Given the description of an element on the screen output the (x, y) to click on. 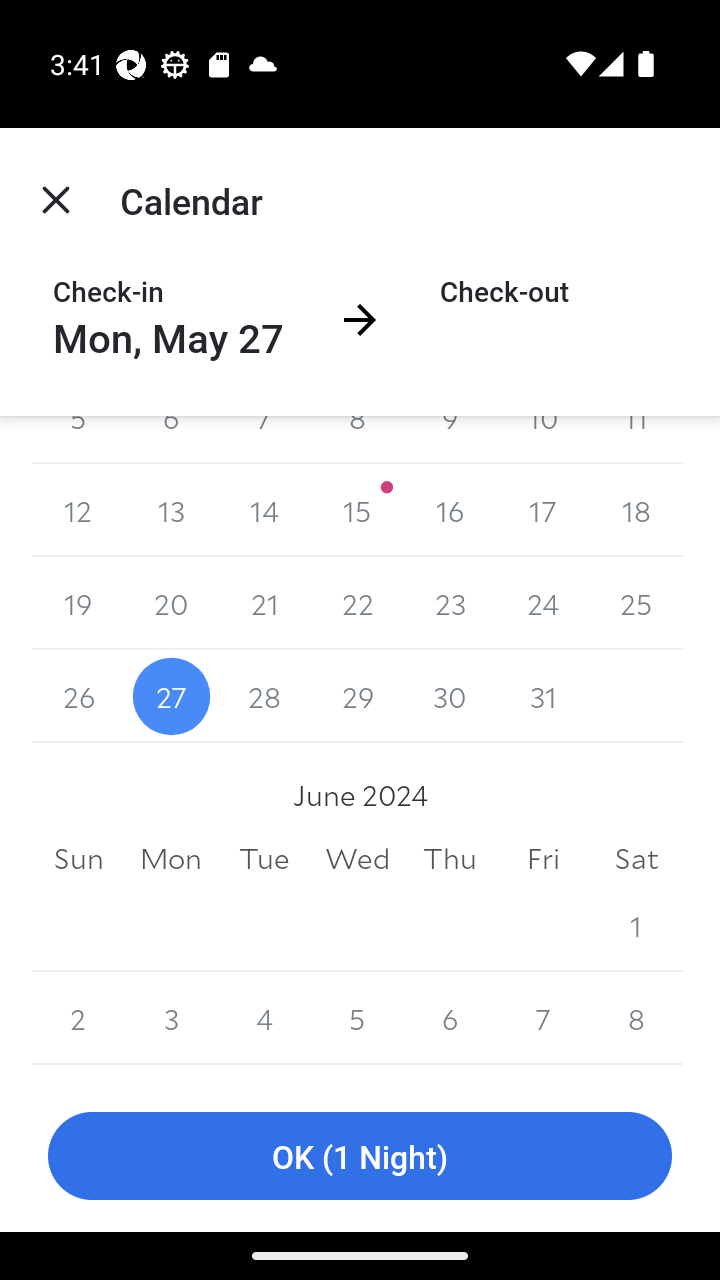
12 12 May 2024 (78, 509)
13 13 May 2024 (171, 509)
14 14 May 2024 (264, 509)
15 15 May 2024 (357, 509)
16 16 May 2024 (449, 509)
17 17 May 2024 (542, 509)
18 18 May 2024 (636, 509)
19 19 May 2024 (78, 603)
20 20 May 2024 (171, 603)
21 21 May 2024 (264, 603)
22 22 May 2024 (357, 603)
23 23 May 2024 (449, 603)
24 24 May 2024 (542, 603)
25 25 May 2024 (636, 603)
26 26 May 2024 (78, 696)
27 27 May 2024 (171, 696)
28 28 May 2024 (264, 696)
29 29 May 2024 (357, 696)
30 30 May 2024 (449, 696)
31 31 May 2024 (542, 696)
Sun (78, 858)
Mon (171, 858)
Tue (264, 858)
Wed (357, 858)
Thu (449, 858)
Fri (542, 858)
Sat (636, 858)
1 1 June 2024 (636, 925)
2 2 June 2024 (78, 1017)
3 3 June 2024 (171, 1017)
4 4 June 2024 (264, 1017)
5 5 June 2024 (357, 1017)
6 6 June 2024 (449, 1017)
7 7 June 2024 (542, 1017)
8 8 June 2024 (636, 1017)
OK (1 Night) (359, 1156)
